Given the description of an element on the screen output the (x, y) to click on. 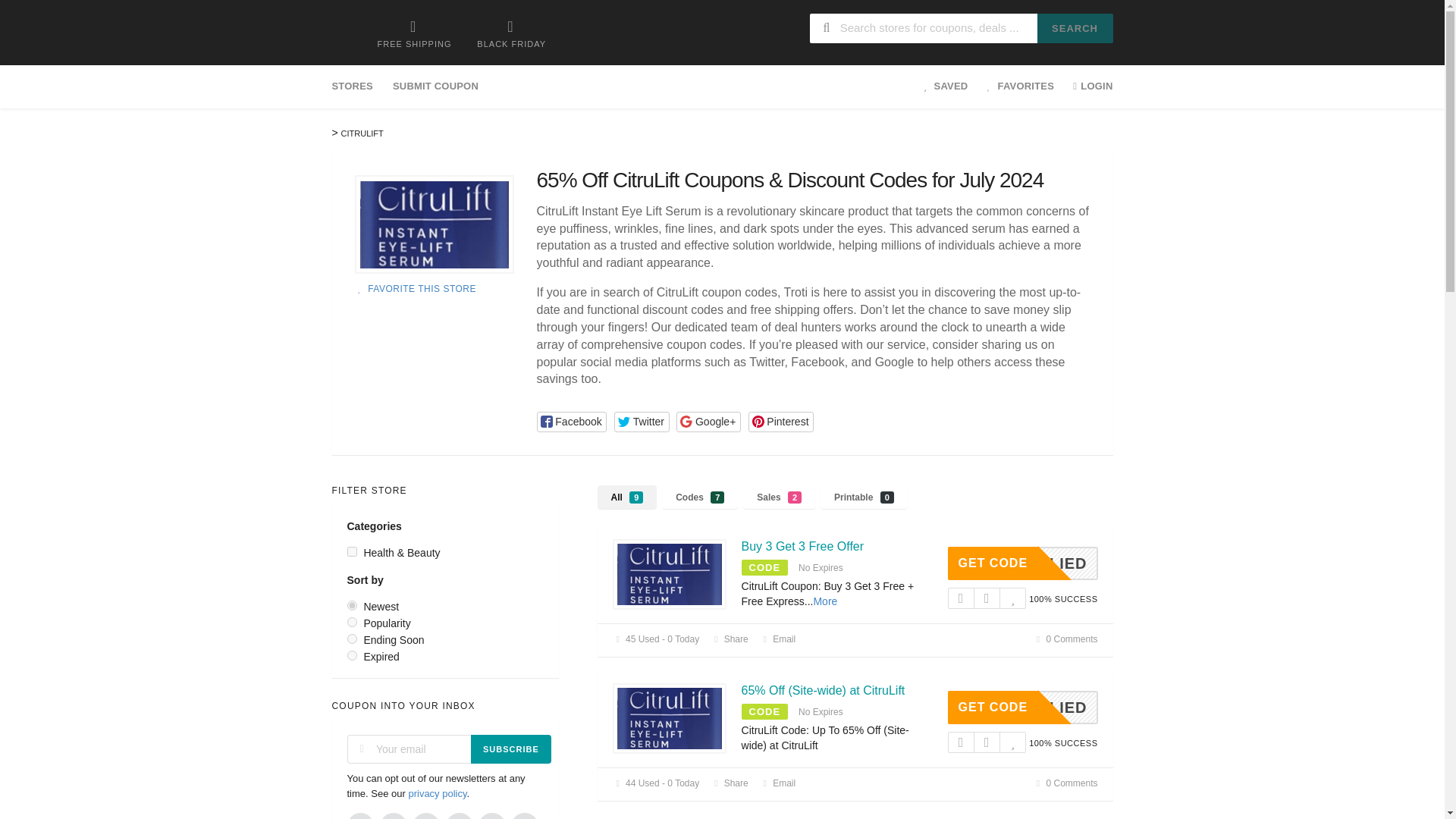
citrulift (669, 718)
citrulift (433, 224)
SAVED (946, 86)
Share link on Facebook (572, 421)
LOGIN (1087, 86)
Share (729, 783)
popularity (351, 622)
Email (778, 638)
BLACK FRIDAY (511, 33)
Share (1022, 563)
Share it with your friend (729, 638)
Buy 3 Get 3 Free Offer (729, 638)
More (802, 545)
Buy 3 Get 3 Free Offer (824, 601)
